Given the description of an element on the screen output the (x, y) to click on. 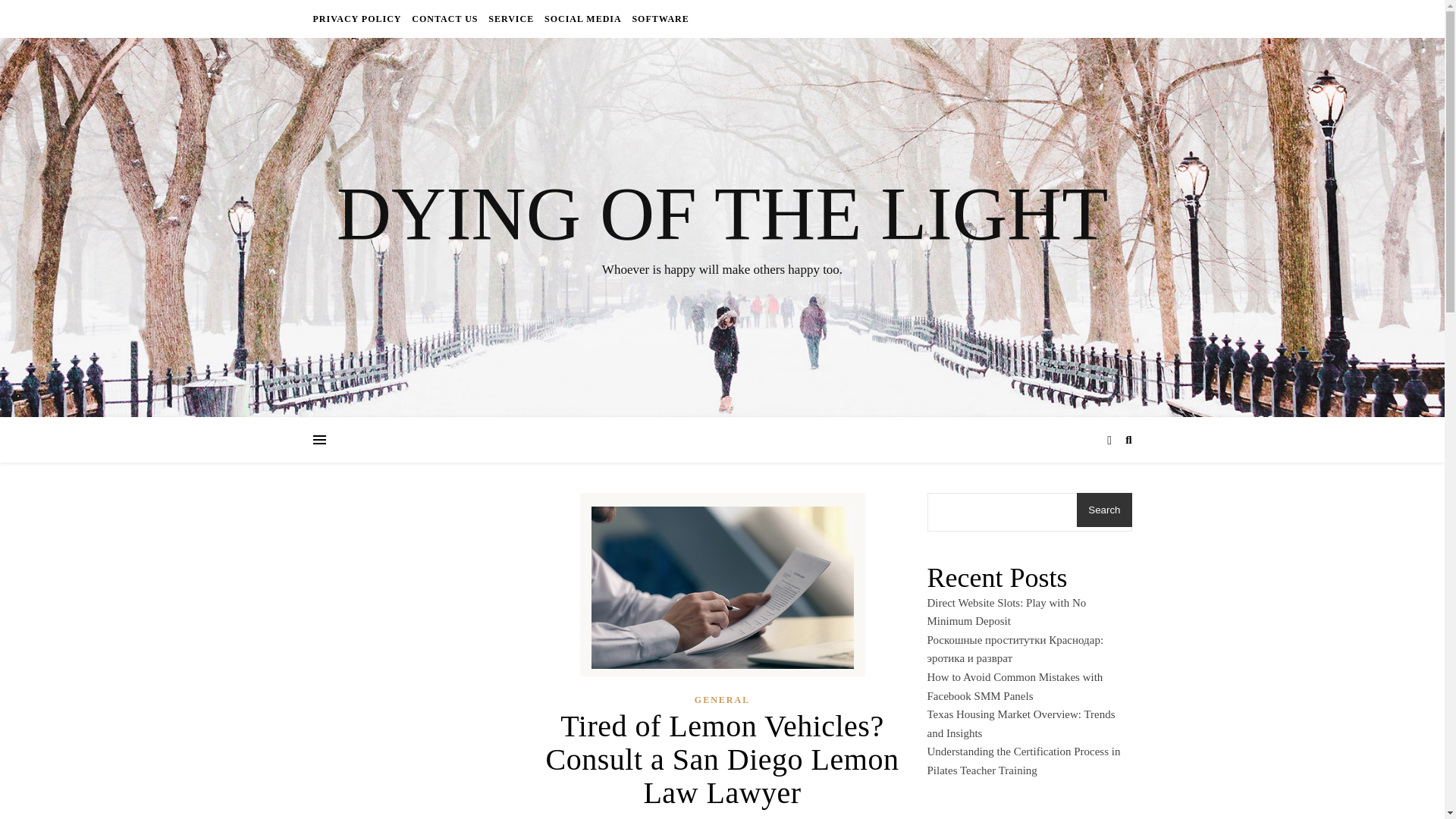
CONTACT US (444, 18)
How to Avoid Common Mistakes with Facebook SMM Panels (1014, 685)
SOFTWARE (657, 18)
Search (1104, 510)
PRIVACY POLICY (358, 18)
SOCIAL MEDIA (583, 18)
SERVICE (510, 18)
Direct Website Slots: Play with No Minimum Deposit (1006, 612)
GENERAL (721, 700)
Texas Housing Market Overview: Trends and Insights (1020, 723)
